Given the description of an element on the screen output the (x, y) to click on. 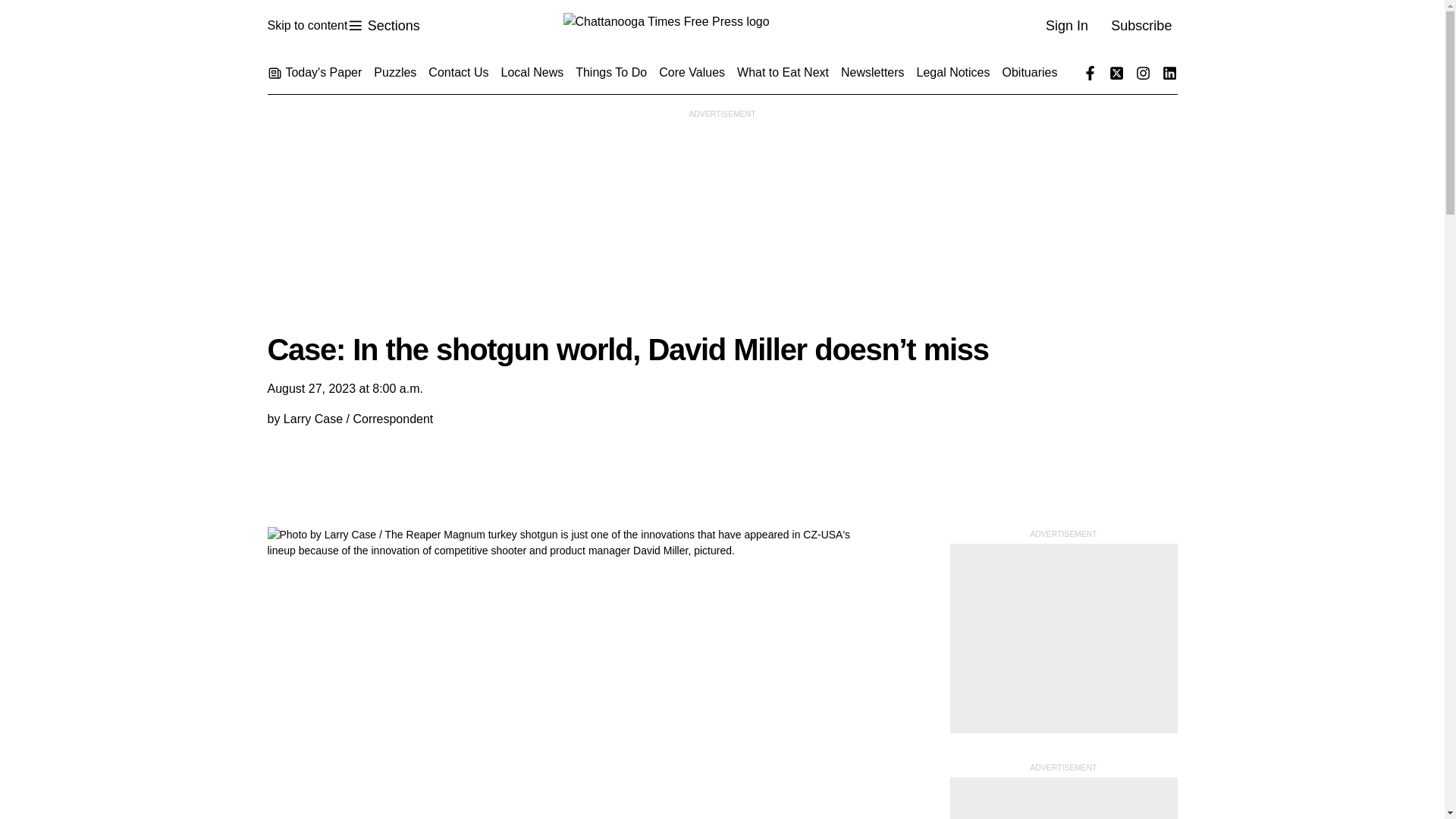
Skip to content (383, 25)
Times Free Press (306, 25)
